Given the description of an element on the screen output the (x, y) to click on. 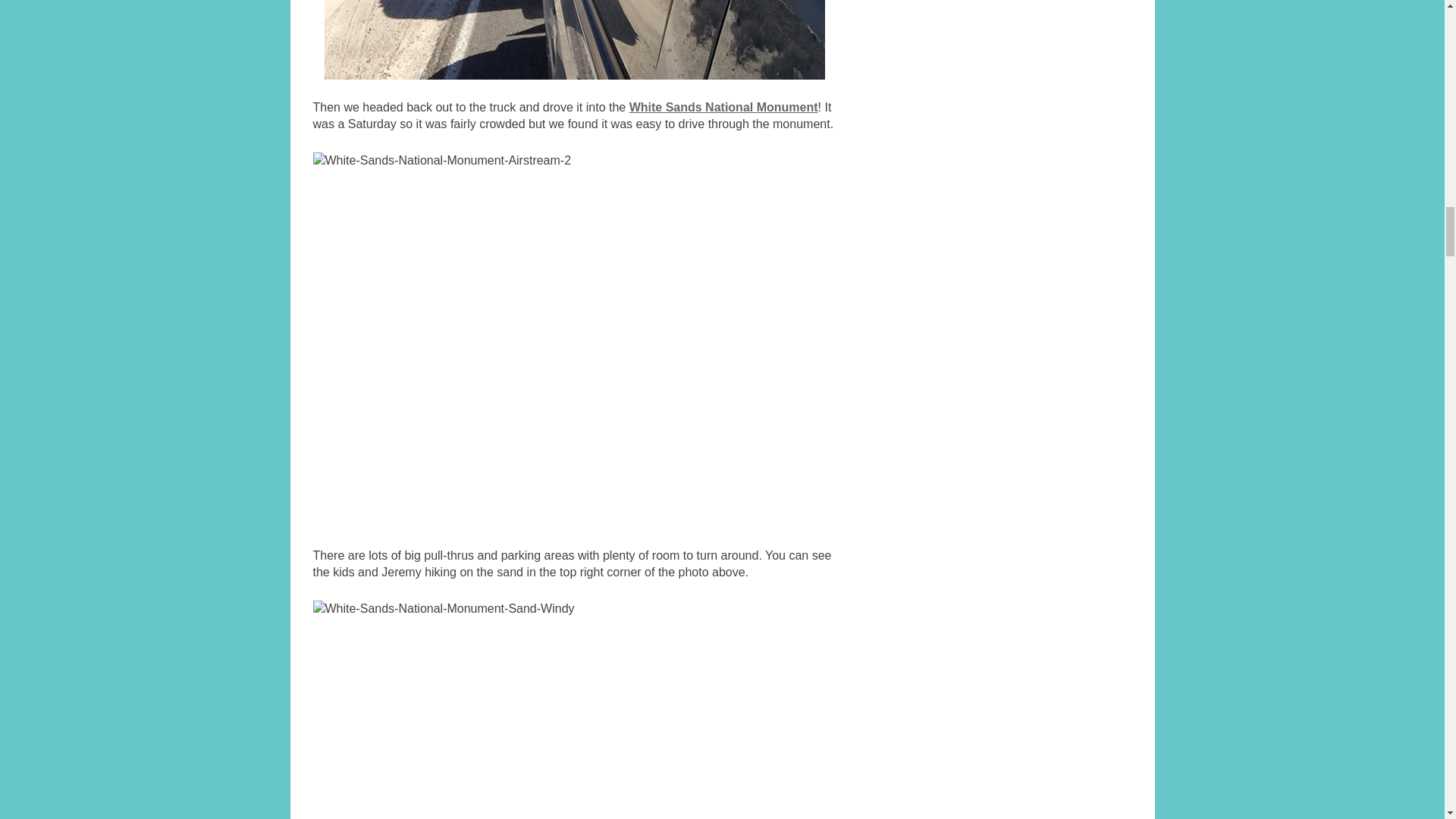
White Sands National Monument (723, 106)
